Given the description of an element on the screen output the (x, y) to click on. 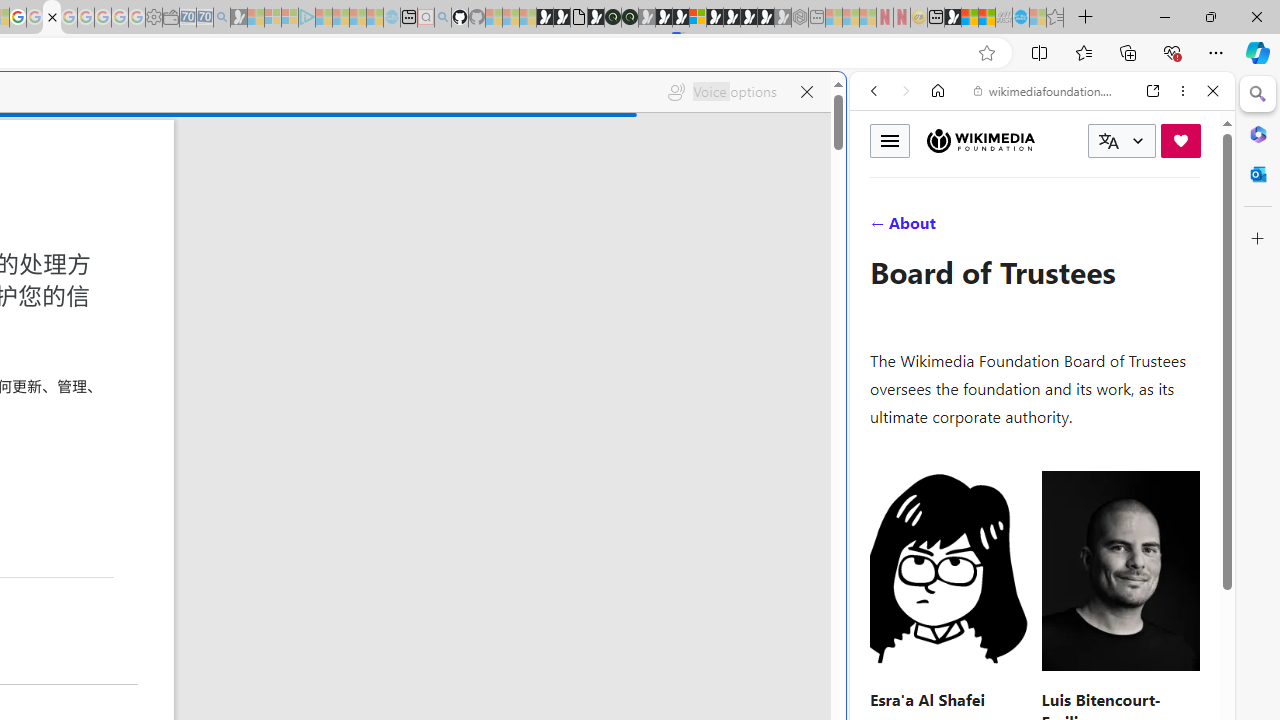
Wiktionary (1034, 669)
